Given the description of an element on the screen output the (x, y) to click on. 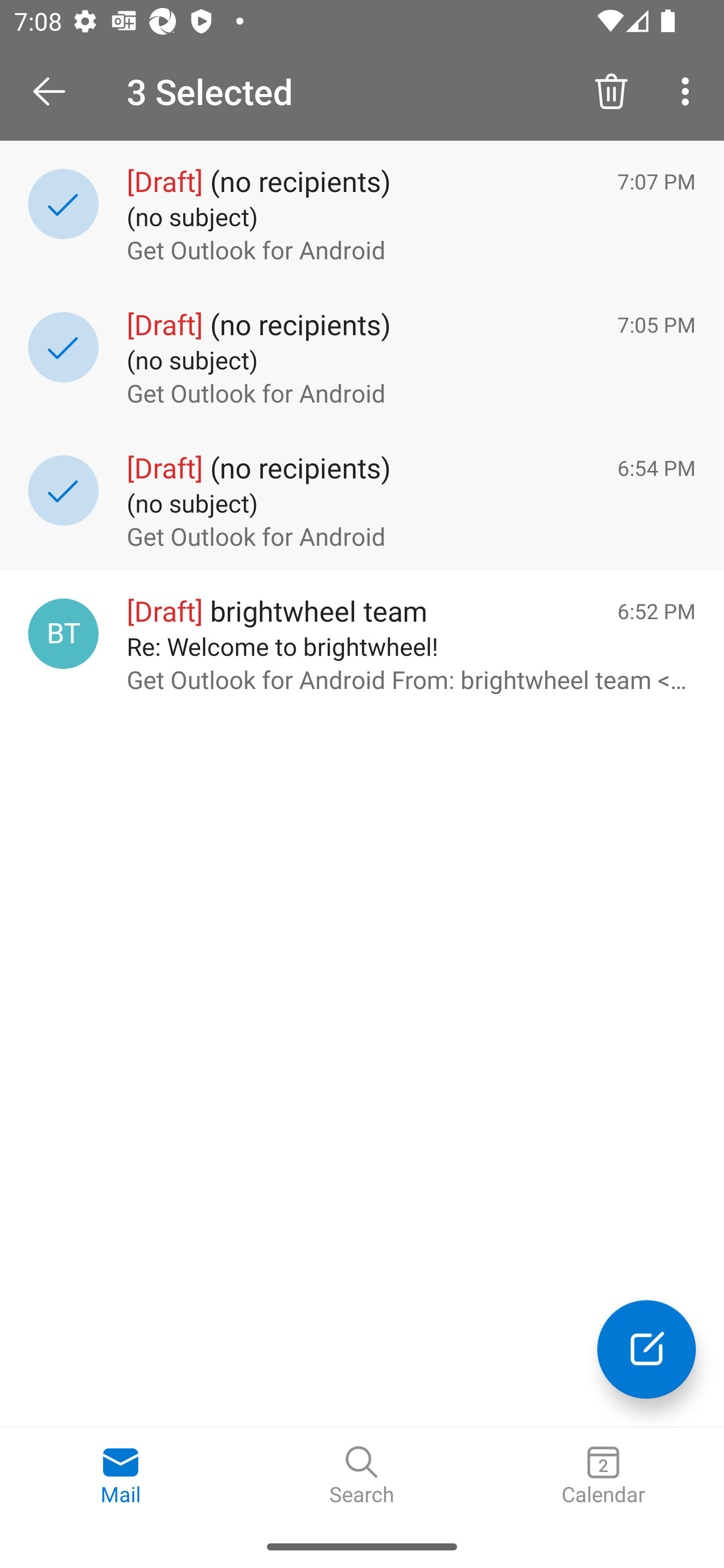
Delete (611, 90)
More options (688, 90)
Open Navigation Drawer (55, 91)
brightwheel team, testappium001@outlook.com (63, 633)
Compose (646, 1348)
Search (361, 1475)
Calendar (603, 1475)
